Given the description of an element on the screen output the (x, y) to click on. 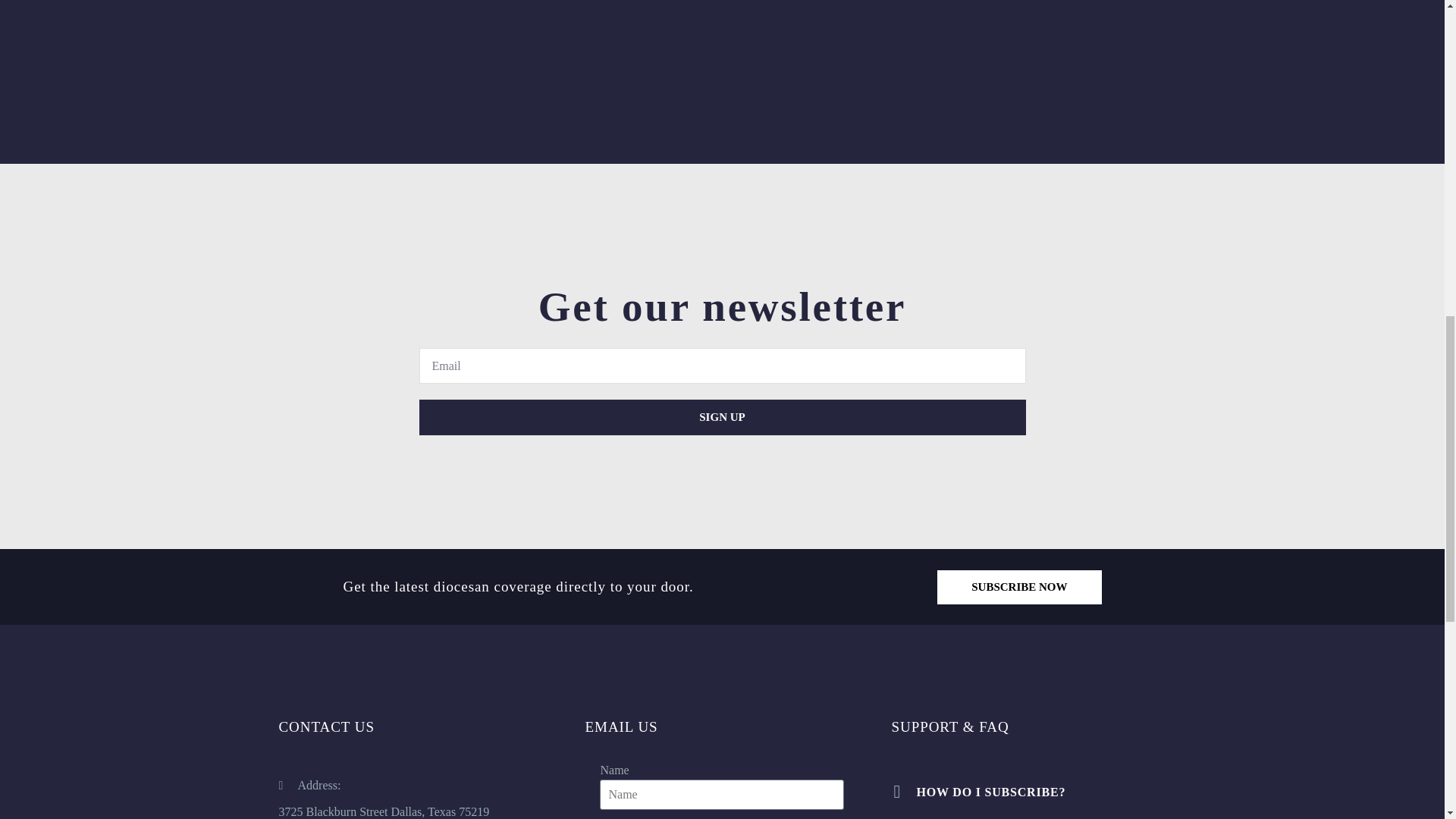
SIGN UP (722, 416)
HOW DO I SUBSCRIBE? (1028, 792)
SUBSCRIBE NOW (1018, 587)
